Given the description of an element on the screen output the (x, y) to click on. 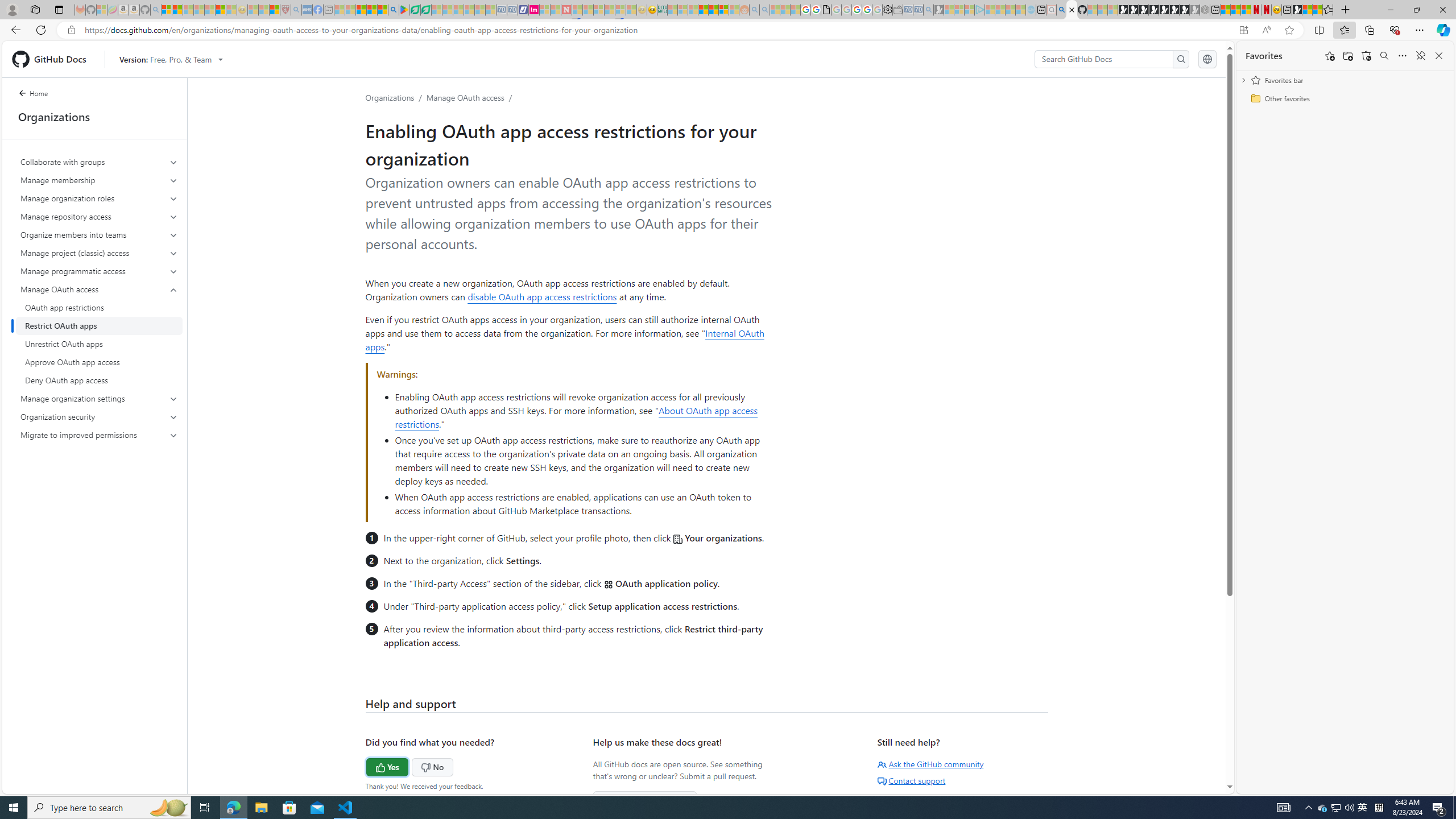
Home (39, 93)
Organization security (99, 416)
New Report Confirms 2023 Was Record Hot | Watch - Sleeping (209, 9)
Close favorites (1439, 55)
Jobs - lastminute.com Investor Portal (534, 9)
Approve OAuth app access (99, 361)
Local - MSN (274, 9)
Expert Portfolios (703, 9)
Manage repository access (99, 216)
Address and search bar (658, 29)
Refresh (40, 29)
Manage repository access (99, 216)
Workspaces (34, 9)
